Given the description of an element on the screen output the (x, y) to click on. 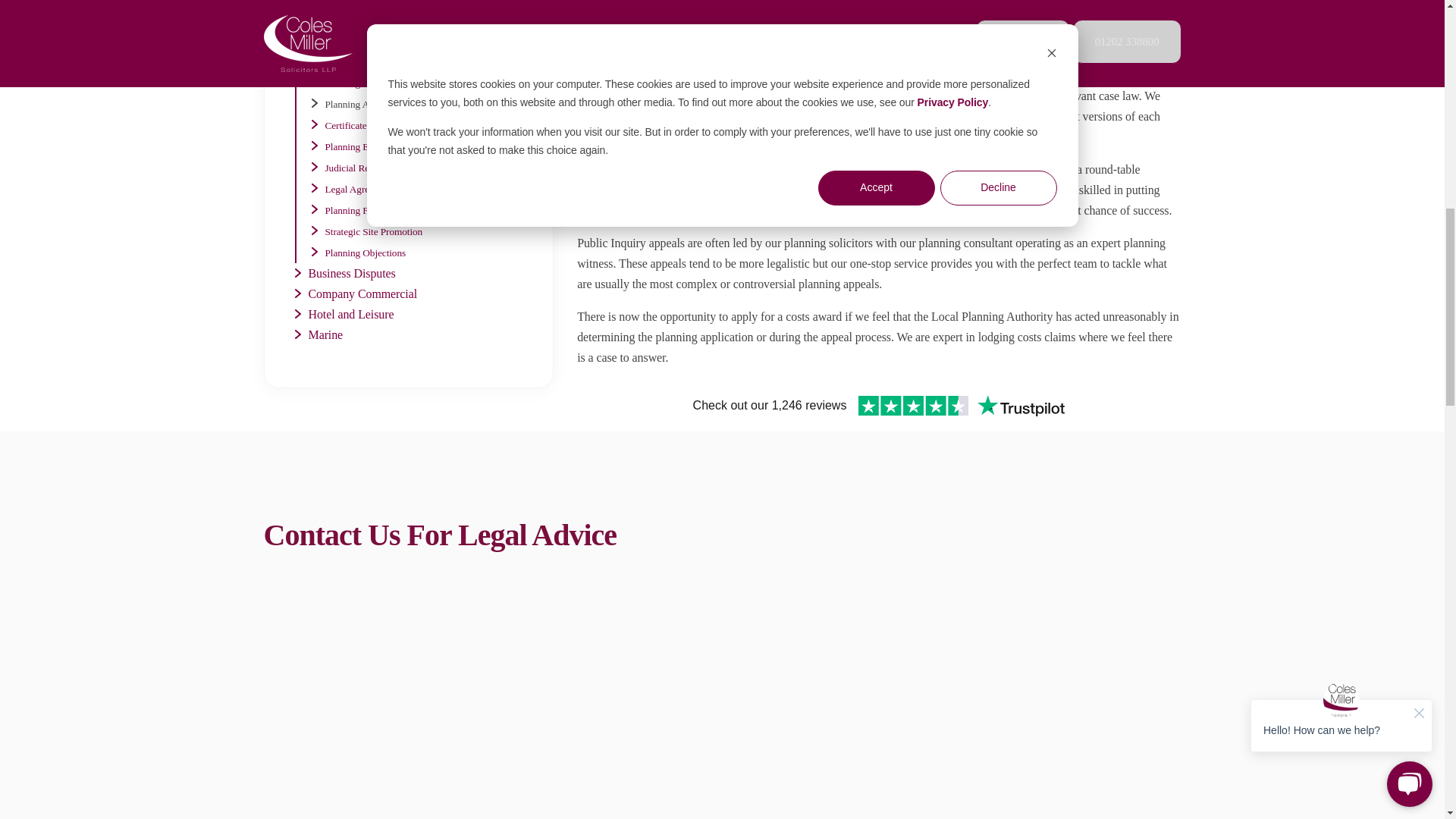
Customer reviews powered by Trustpilot (878, 405)
